Given the description of an element on the screen output the (x, y) to click on. 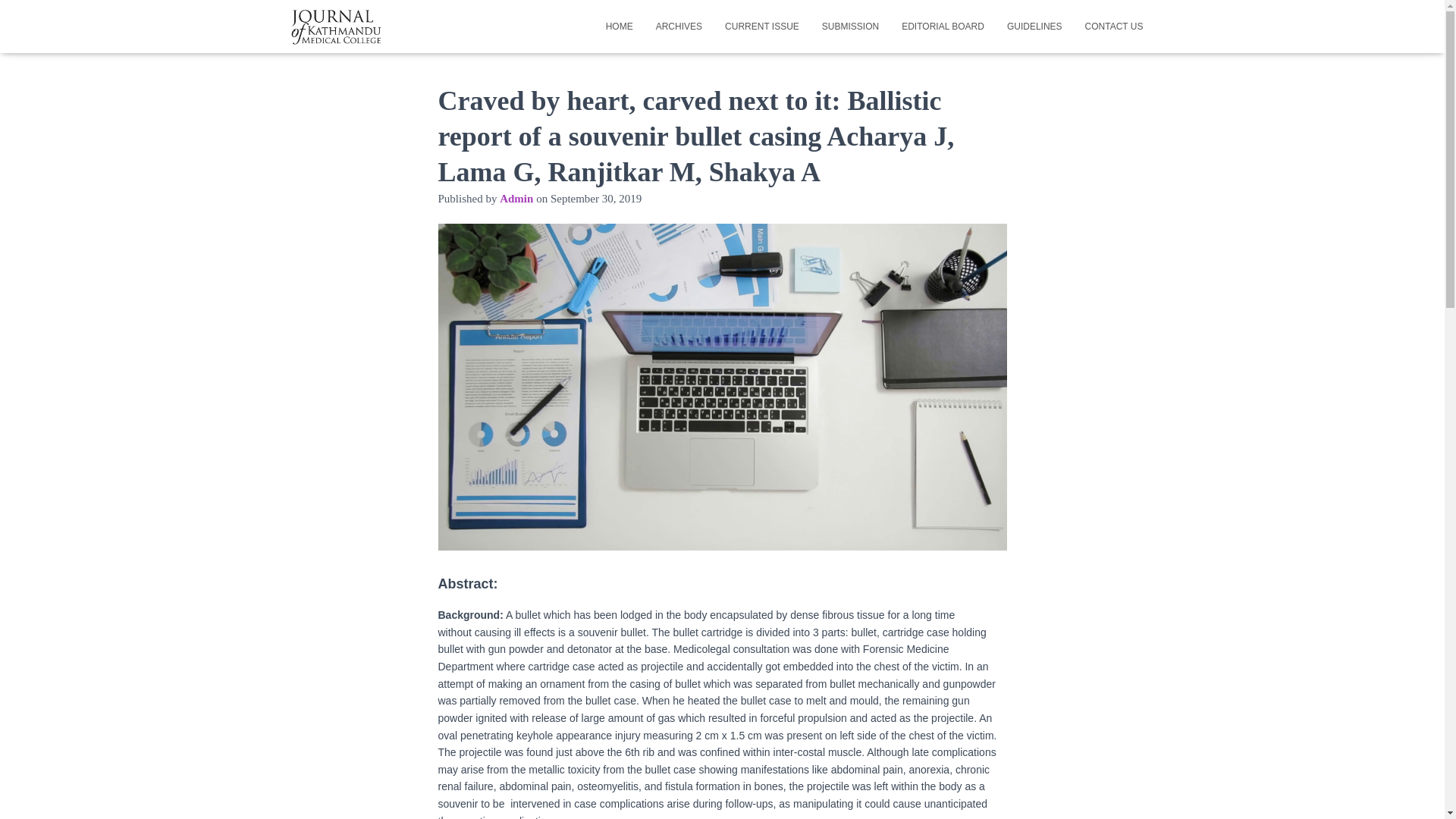
Archives (679, 26)
SUBMISSION (849, 26)
Contact Us (1114, 26)
HOME (619, 26)
Guidelines (1034, 26)
Editorial Board (942, 26)
EDITORIAL BOARD (942, 26)
Home (619, 26)
ARCHIVES (679, 26)
Submission (849, 26)
